Given the description of an element on the screen output the (x, y) to click on. 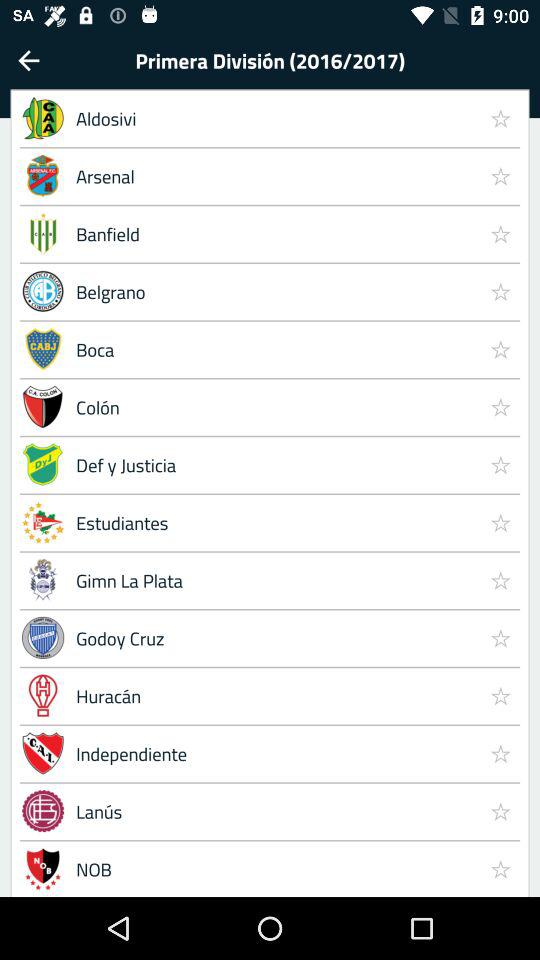
choose the icon next to aldosivi (500, 175)
